Given the description of an element on the screen output the (x, y) to click on. 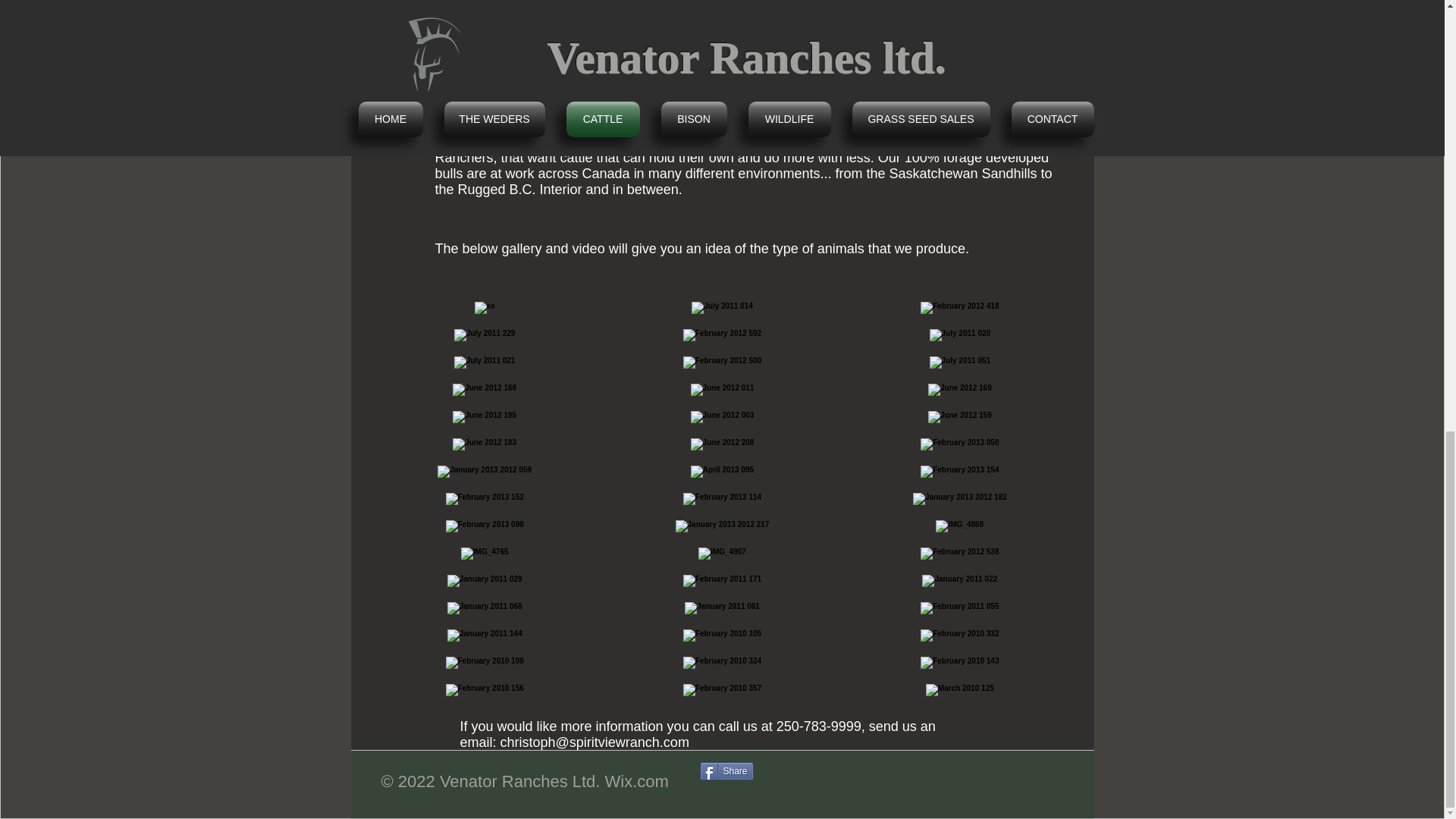
Wix.com (636, 781)
Facebook Like (873, 777)
Share (725, 771)
Share (725, 771)
